Given the description of an element on the screen output the (x, y) to click on. 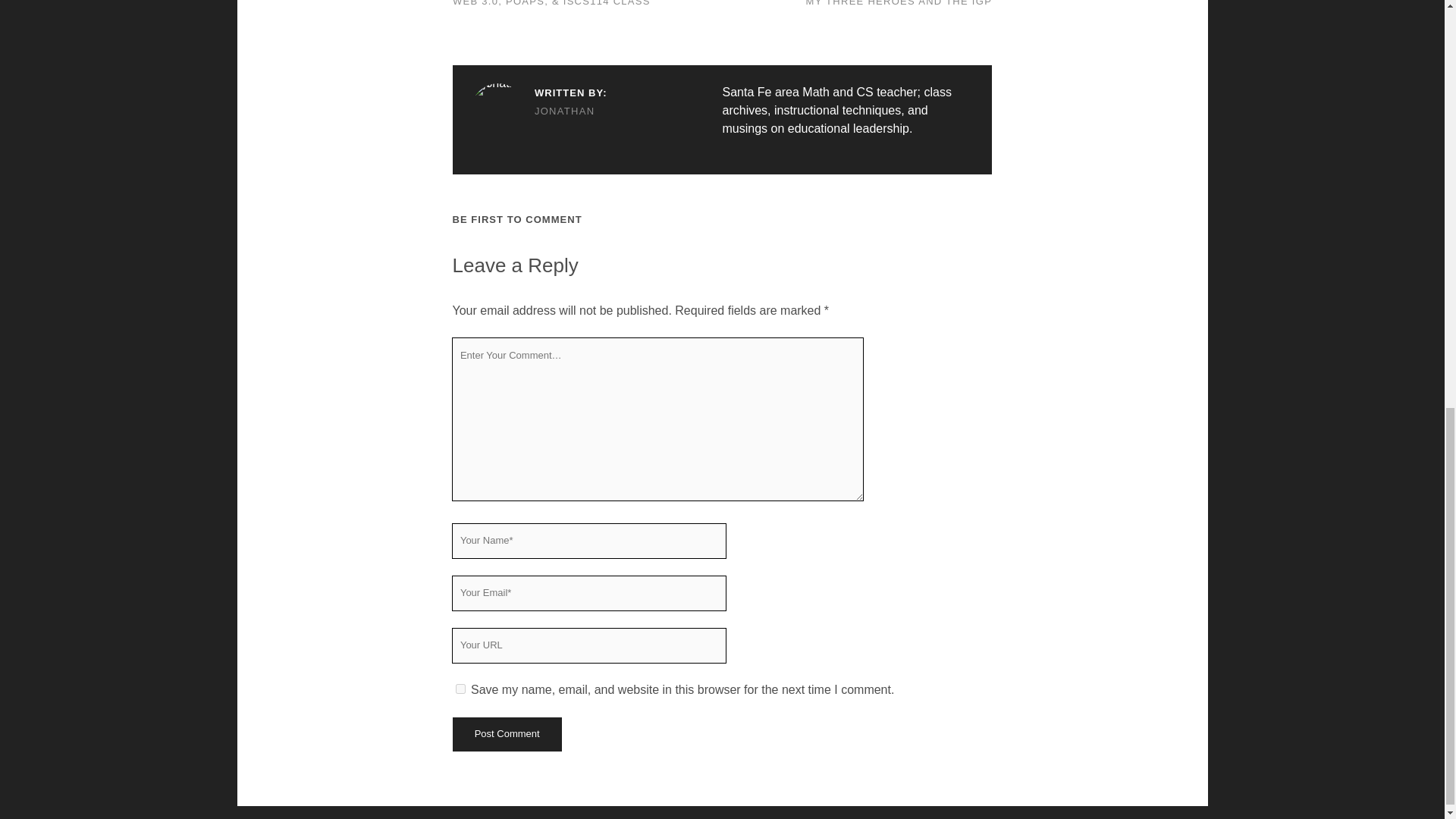
Posts by jonathan (538, 111)
yes (459, 688)
JONATHAN (538, 111)
MY THREE HEROES AND THE IGP (899, 3)
Post Comment (505, 734)
Post Comment (505, 734)
